Given the description of an element on the screen output the (x, y) to click on. 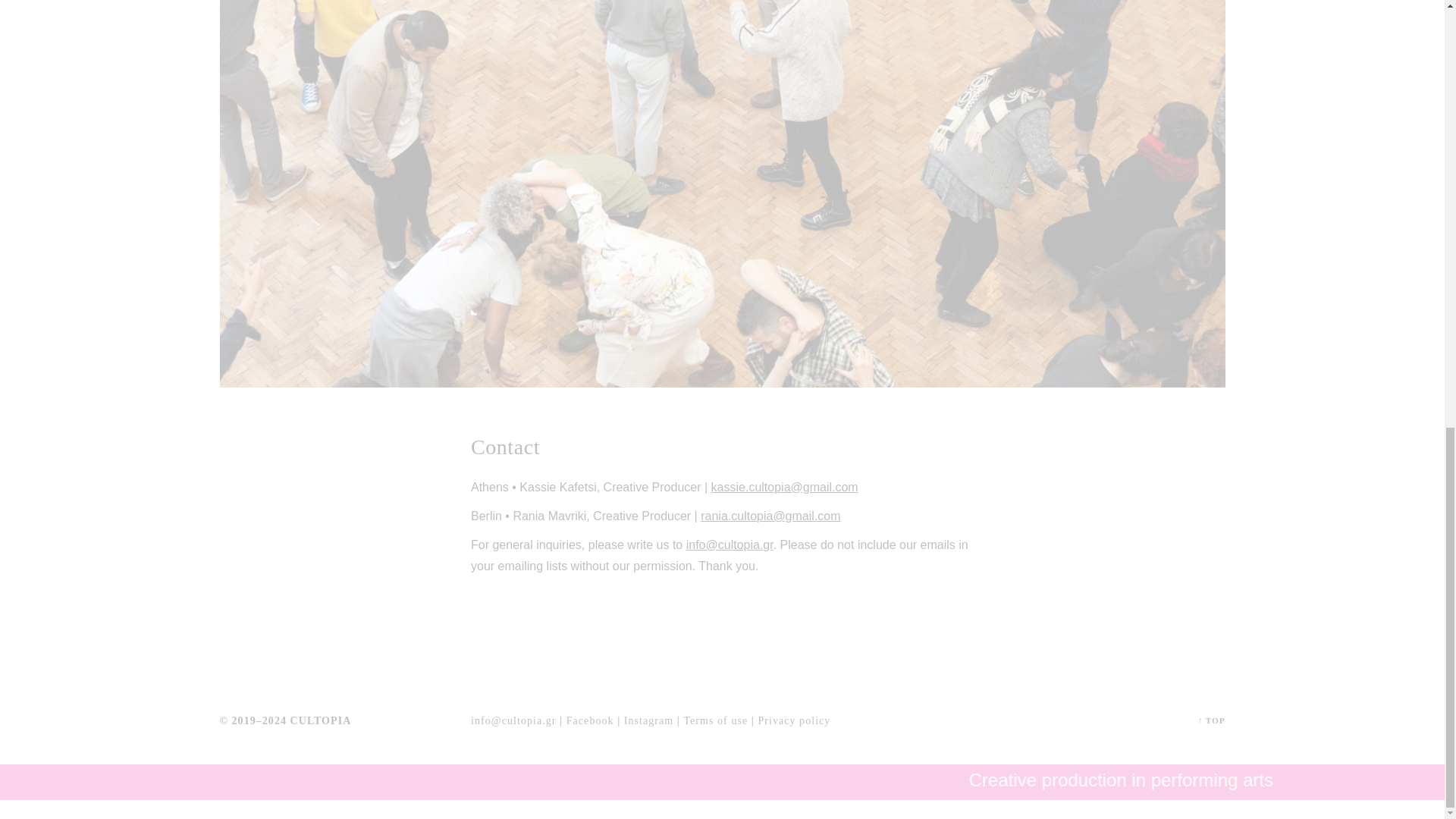
Terms of use (715, 722)
Instagram (648, 722)
Privacy policy (793, 722)
Facebook (590, 722)
